Given the description of an element on the screen output the (x, y) to click on. 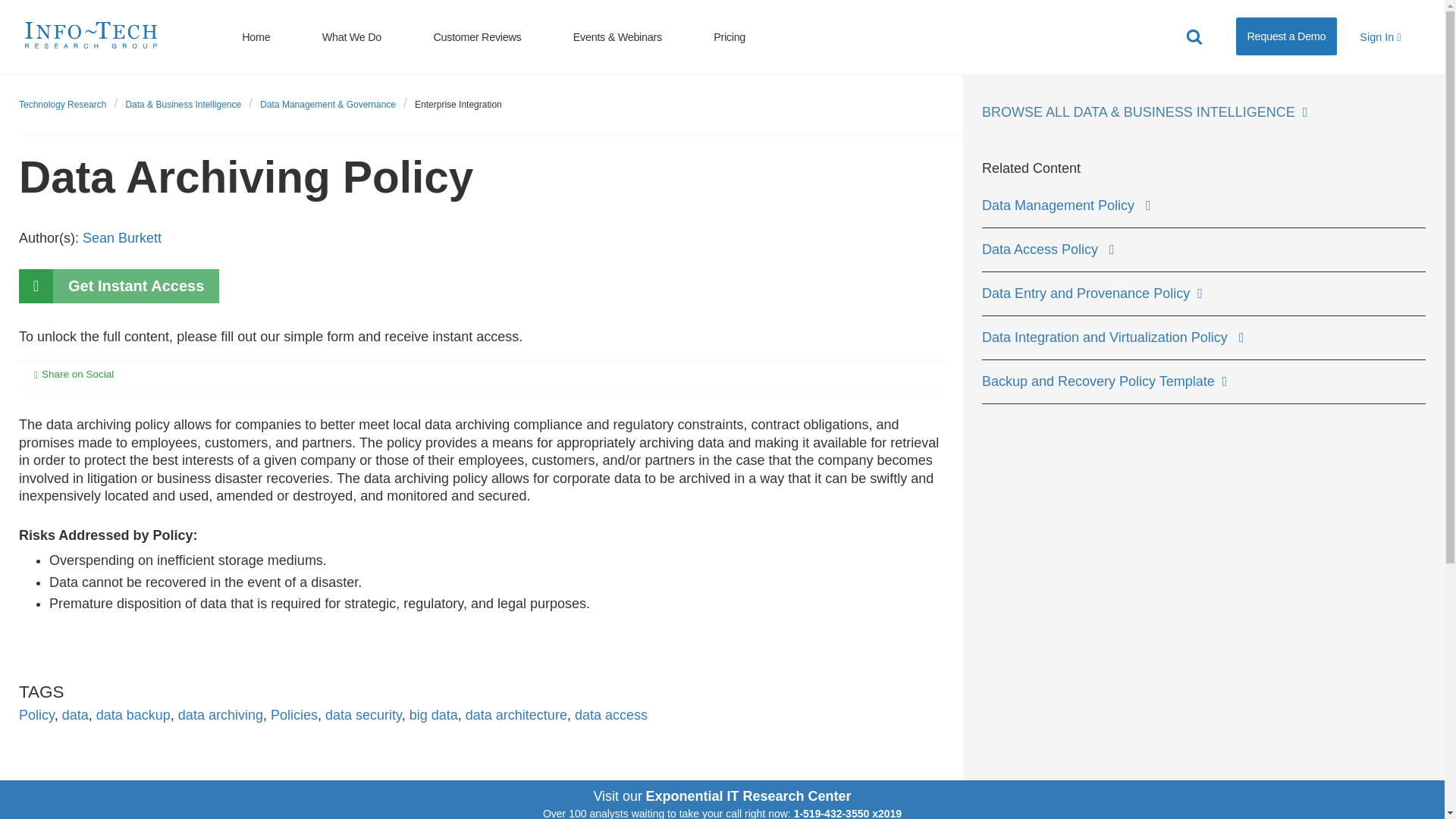
Technology Research (62, 104)
Enterprise Integration (458, 104)
What We Do (352, 37)
Info-Tech Research Group logo (90, 33)
Customer Reviews (477, 37)
Share on Social (85, 374)
Get Instant Access (118, 286)
Pricing (729, 37)
Home (255, 37)
Request a Demo (1286, 36)
Sign In (1380, 37)
